Given the description of an element on the screen output the (x, y) to click on. 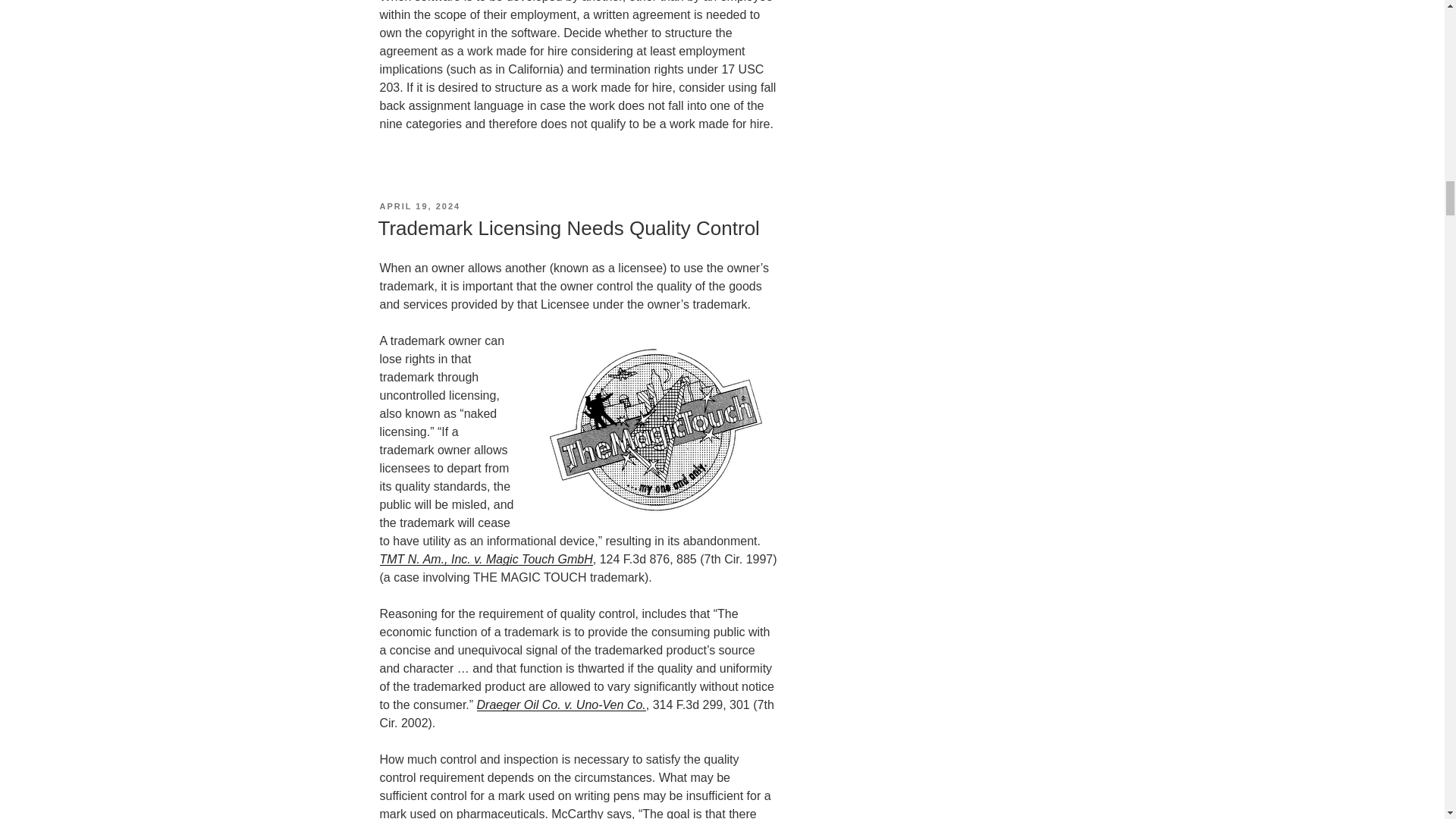
Draeger Oil Co. v. Uno-Ven Co. (561, 704)
APRIL 19, 2024 (419, 205)
TMT N. Am., Inc. v. Magic Touch GmbH (485, 558)
Trademark Licensing Needs Quality Control (567, 228)
